Given the description of an element on the screen output the (x, y) to click on. 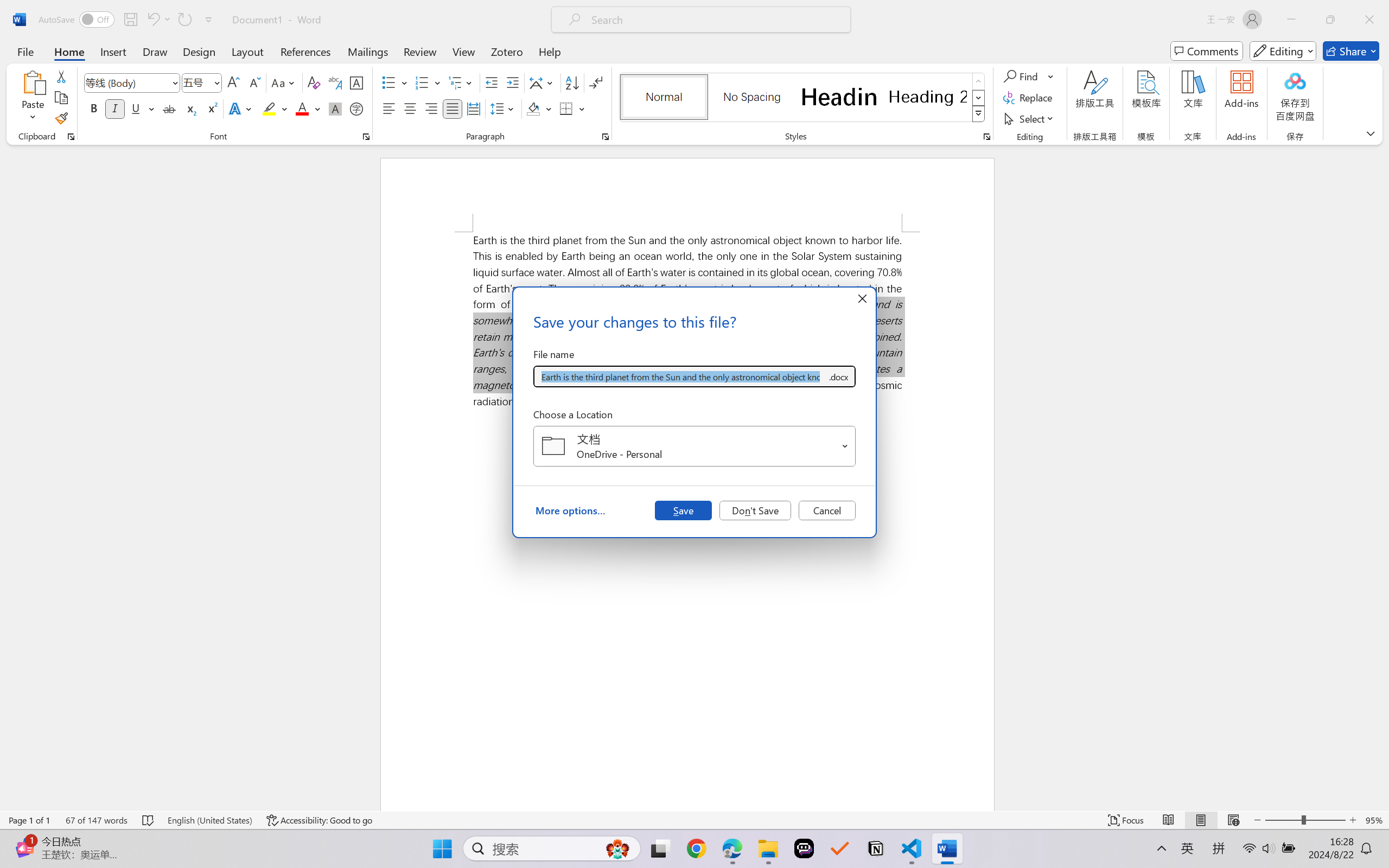
Font Color (308, 108)
Align Right (431, 108)
Text Highlight Color Yellow (269, 108)
Undo Italic (158, 19)
Undo Italic (152, 19)
Italic (115, 108)
Class: MsoCommandBar (694, 819)
